Given the description of an element on the screen output the (x, y) to click on. 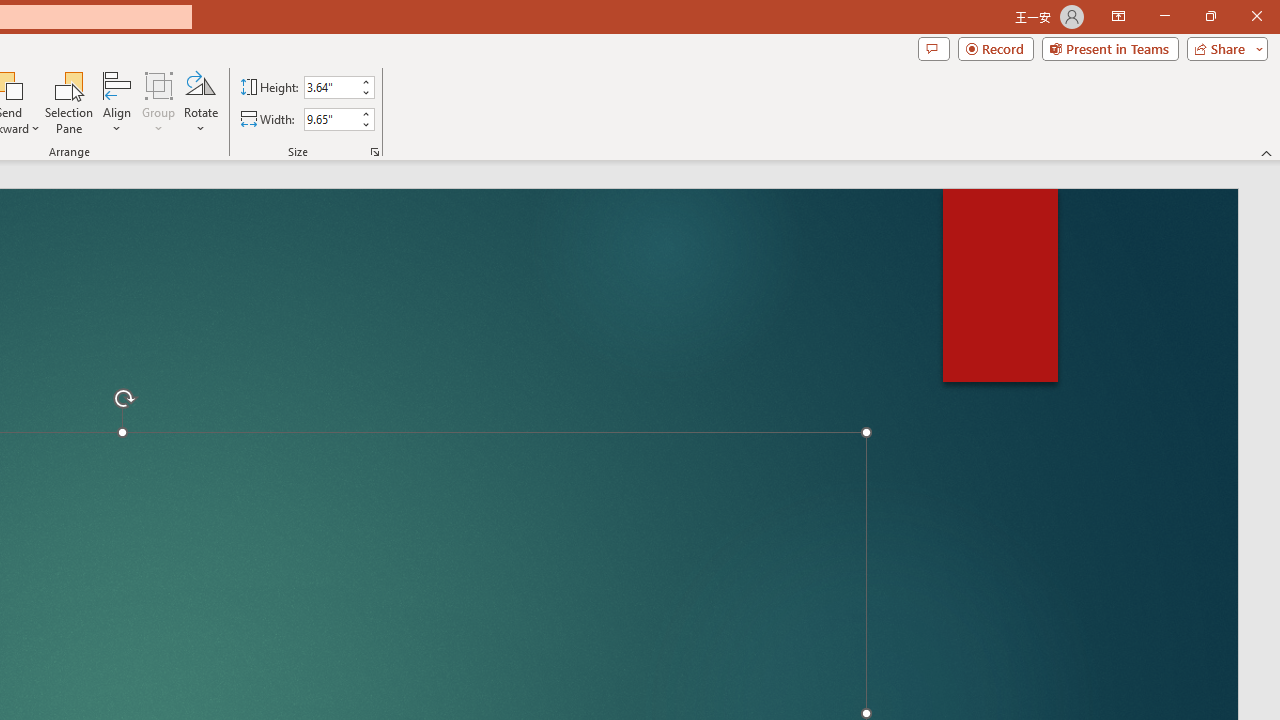
Shape Height (330, 87)
Selection Pane... (69, 102)
Rotate (200, 102)
Shape Width (330, 119)
Size and Position... (374, 151)
Group (159, 102)
Align (117, 102)
More (365, 113)
